Given the description of an element on the screen output the (x, y) to click on. 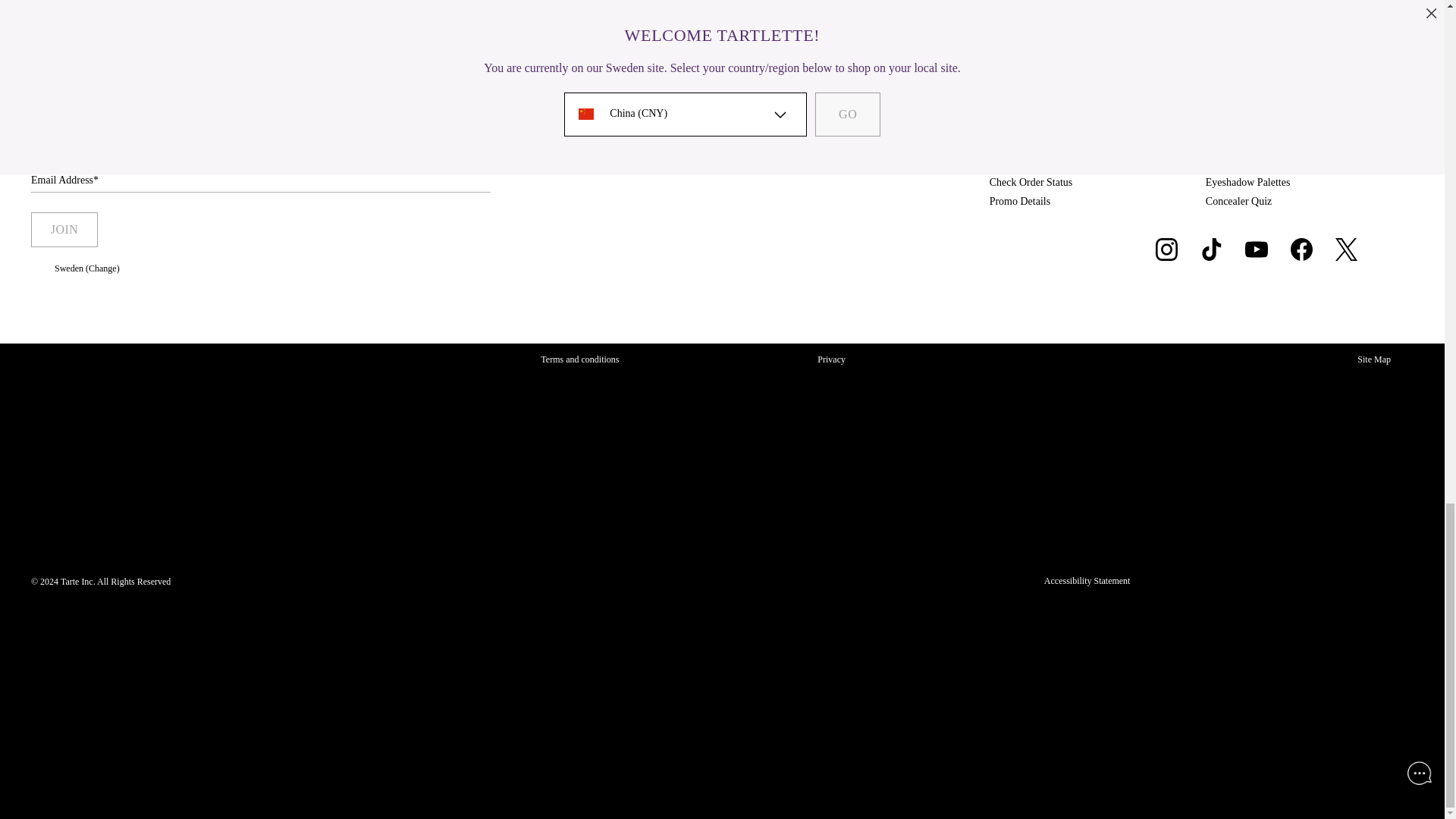
Go to Frequently Asked Questions (1006, 143)
Go to Frequently Asked Questions (1001, 125)
Go to Contact Us (1013, 163)
